Given the description of an element on the screen output the (x, y) to click on. 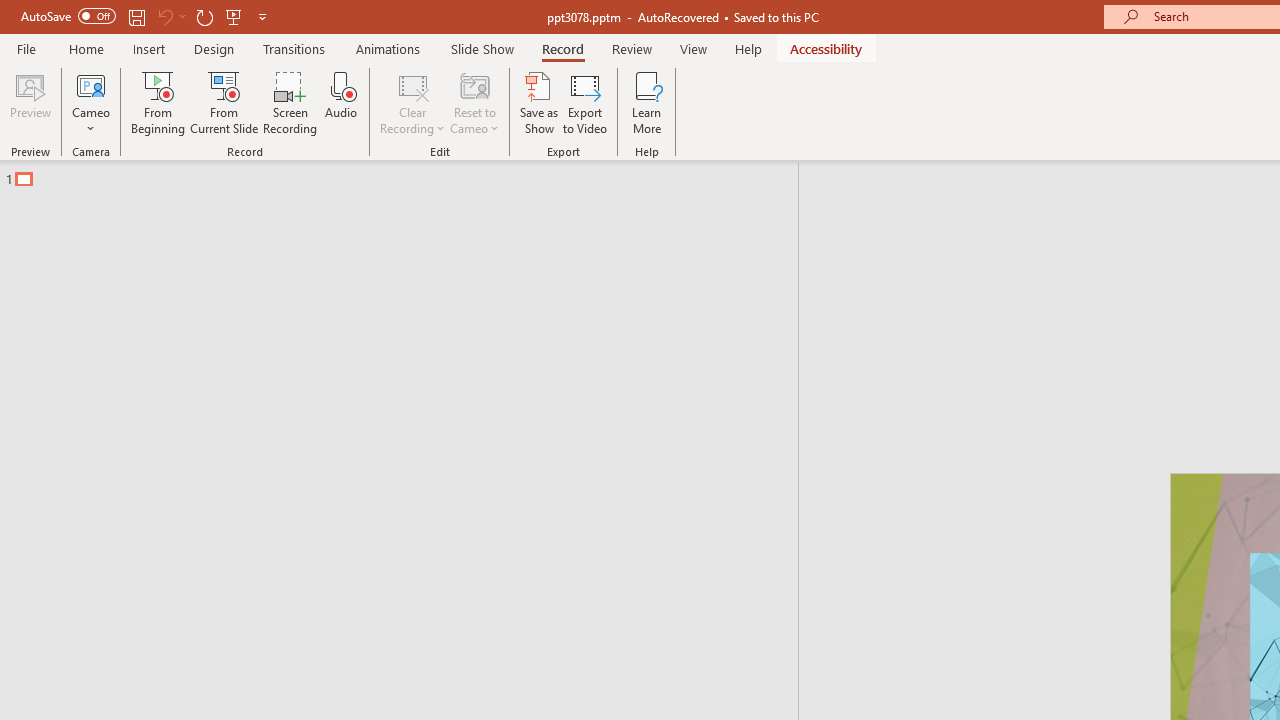
UGround_paper.pdf (1206, 47)
Poe (172, 313)
Visual Studio 2022 (57, 457)
Blender 4.1 (287, 313)
Typora (287, 446)
CloudCompare (287, 180)
SJTUvpn (172, 446)
Notion (57, 180)
Visual Studio Code (57, 591)
